Given the description of an element on the screen output the (x, y) to click on. 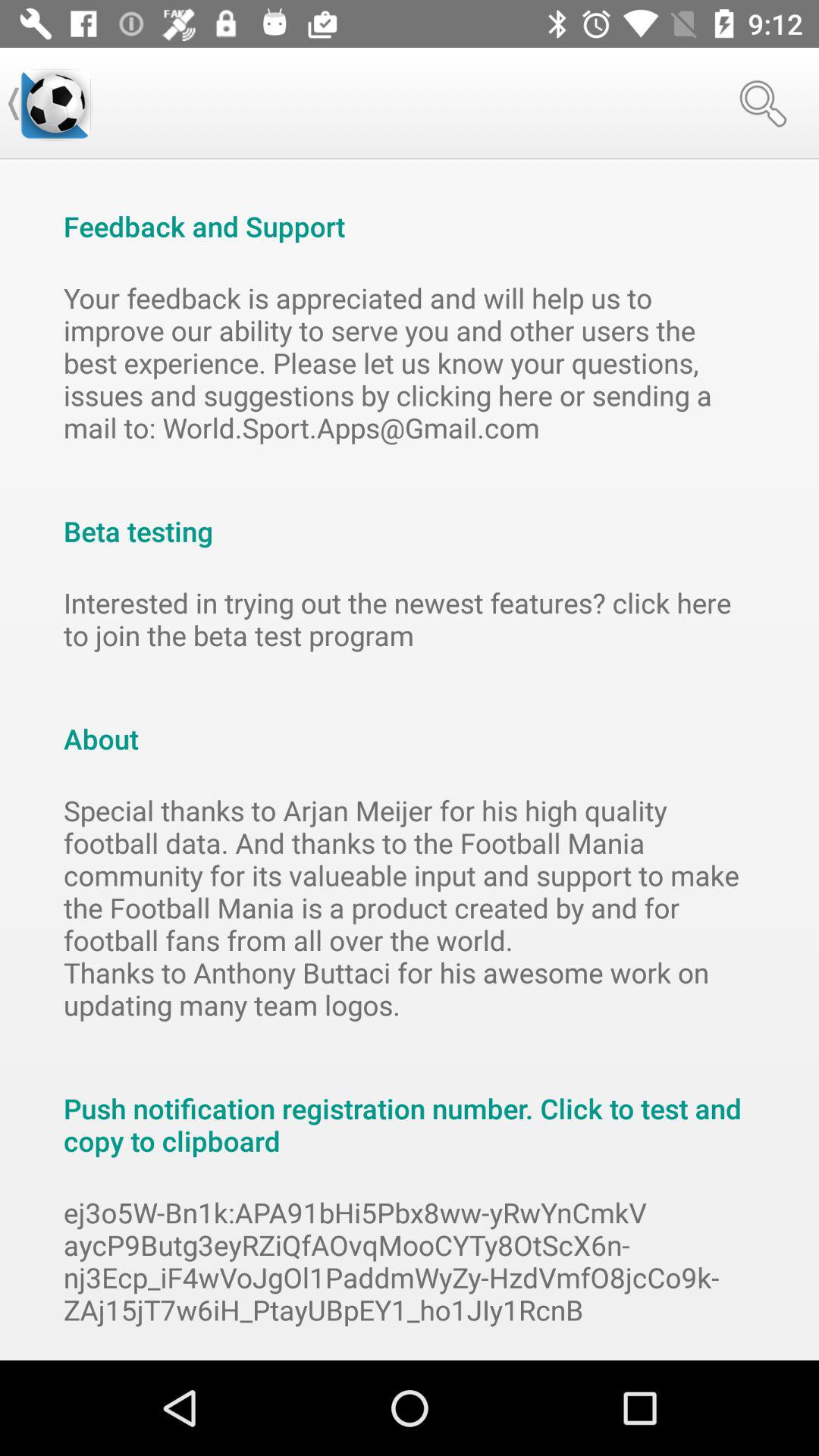
turn off the icon at the top right corner (763, 103)
